Given the description of an element on the screen output the (x, y) to click on. 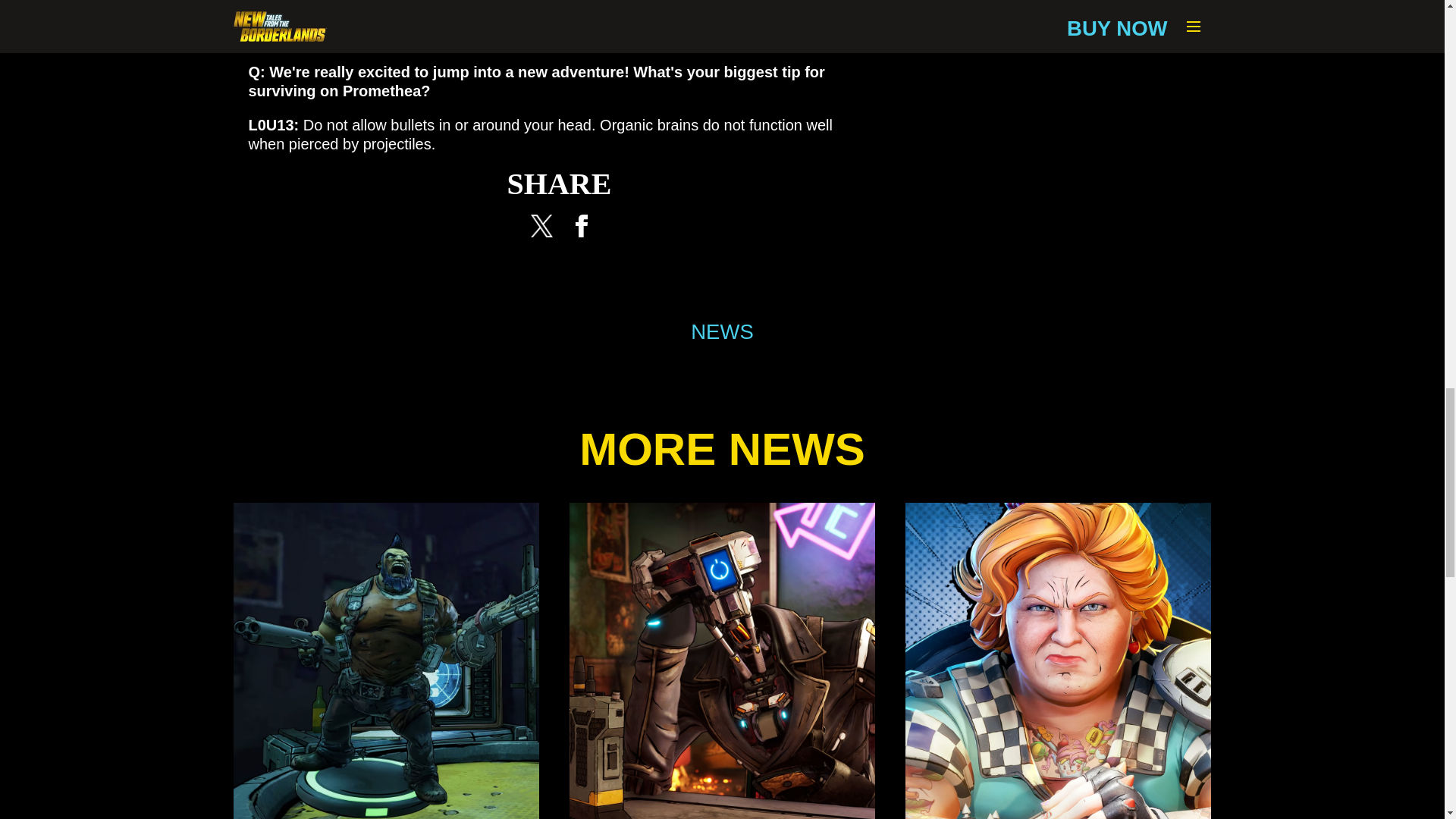
NEWS (722, 332)
